Given the description of an element on the screen output the (x, y) to click on. 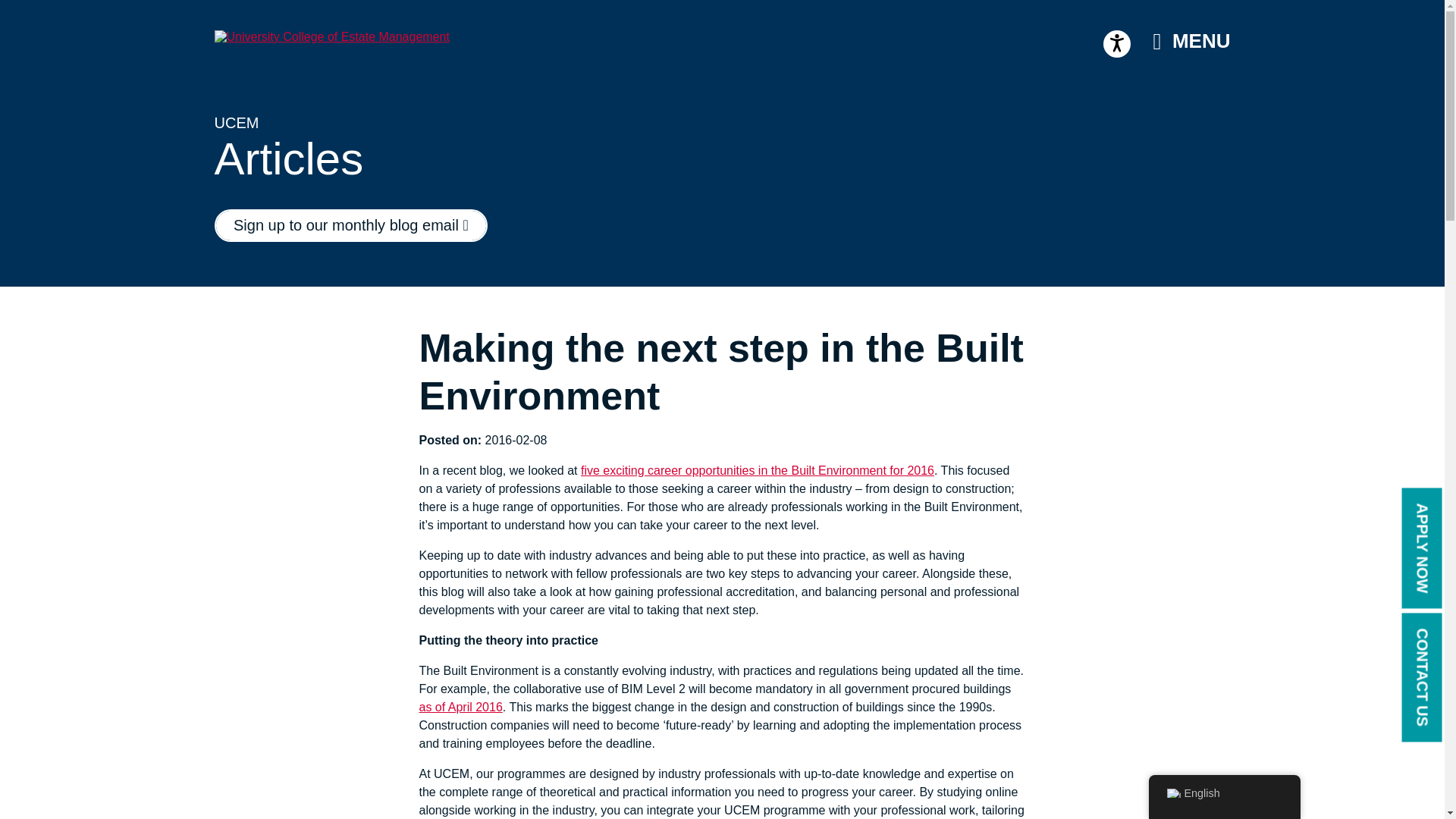
Accessibility (1117, 43)
  MENU (1191, 41)
English (1172, 792)
